Given the description of an element on the screen output the (x, y) to click on. 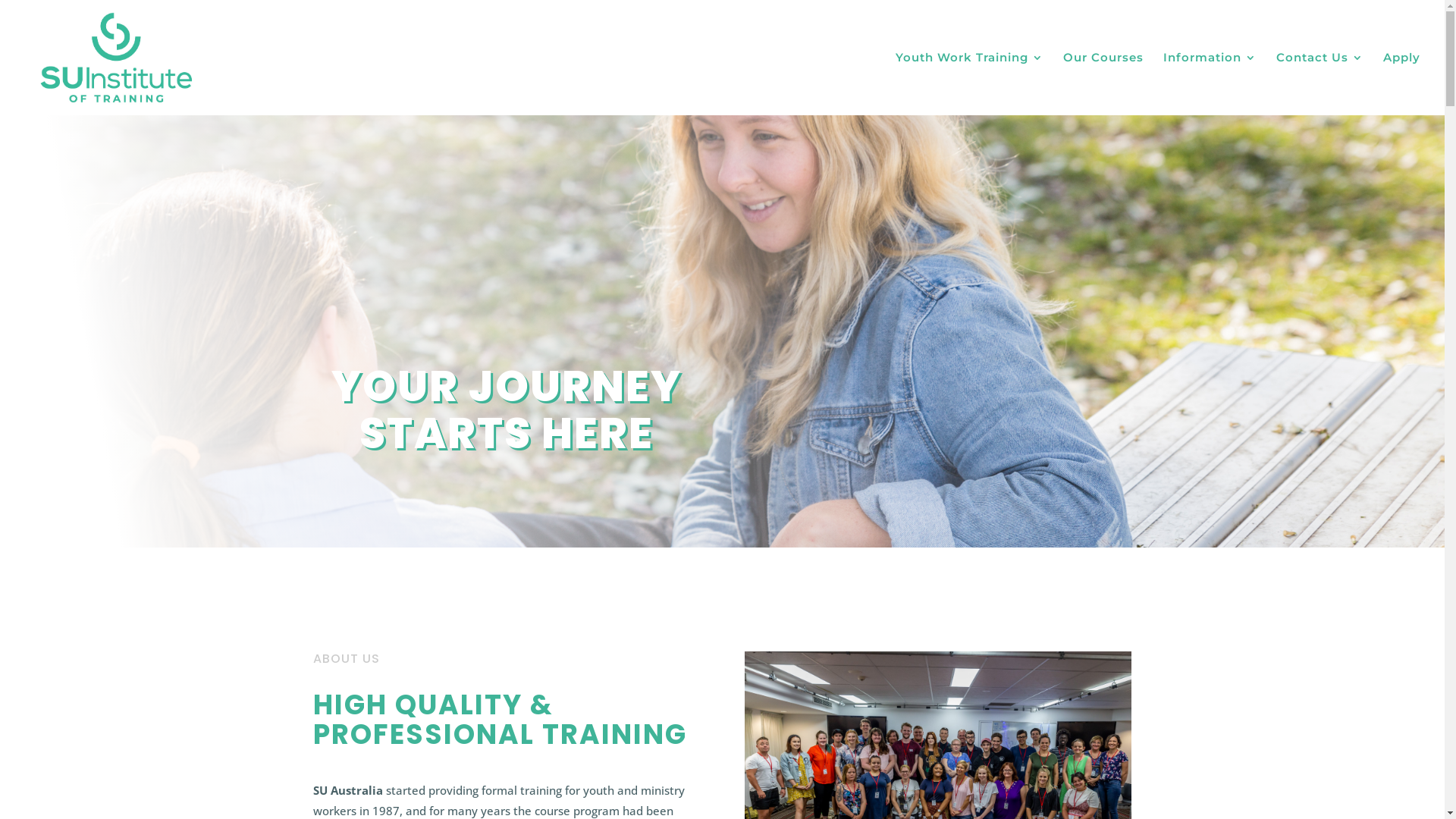
Apply Element type: text (1401, 83)
Contact Us Element type: text (1319, 83)
Information Element type: text (1209, 83)
Our Courses Element type: text (1103, 83)
Youth Work Training Element type: text (969, 83)
